Given the description of an element on the screen output the (x, y) to click on. 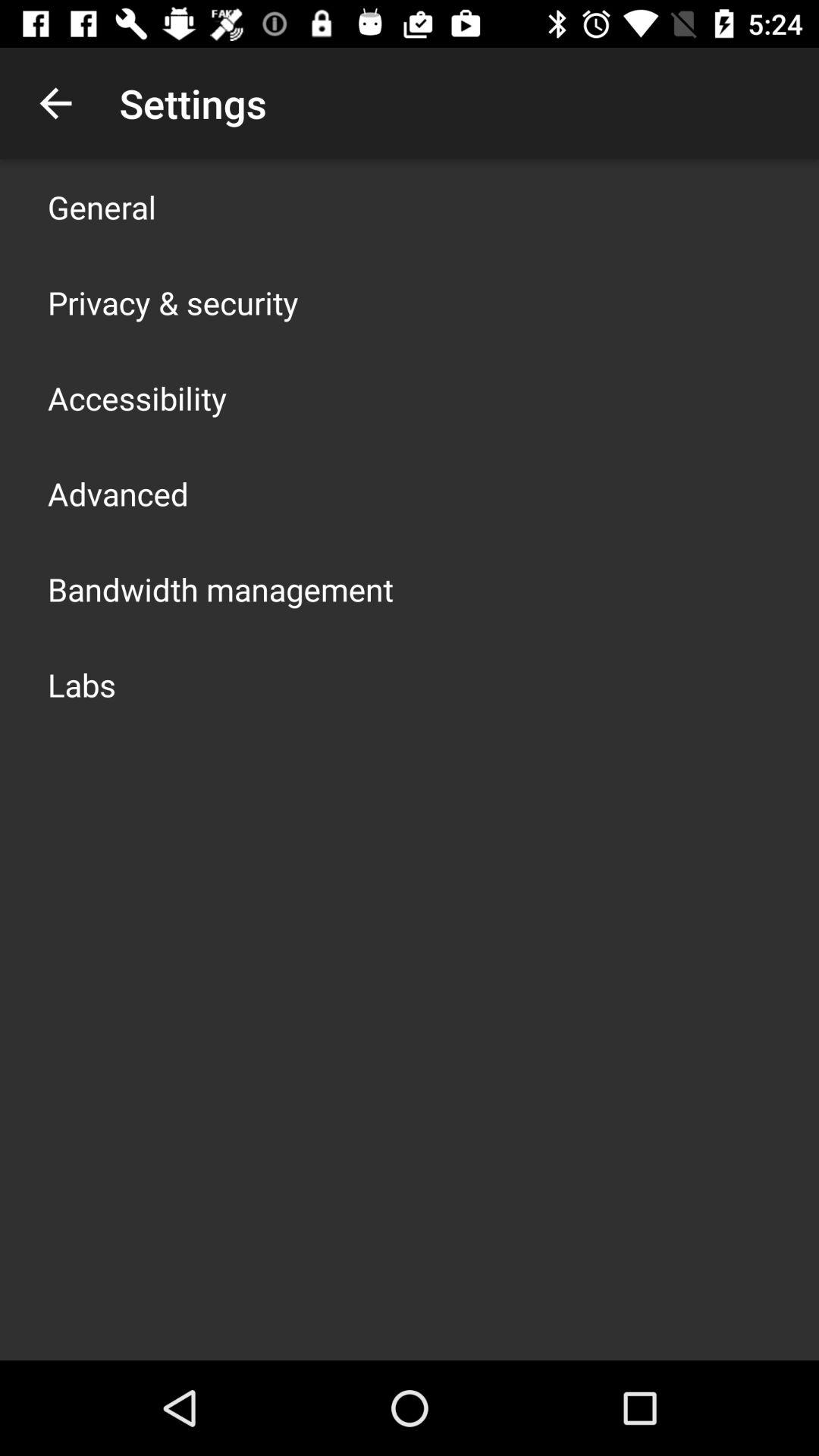
turn on advanced app (117, 493)
